Given the description of an element on the screen output the (x, y) to click on. 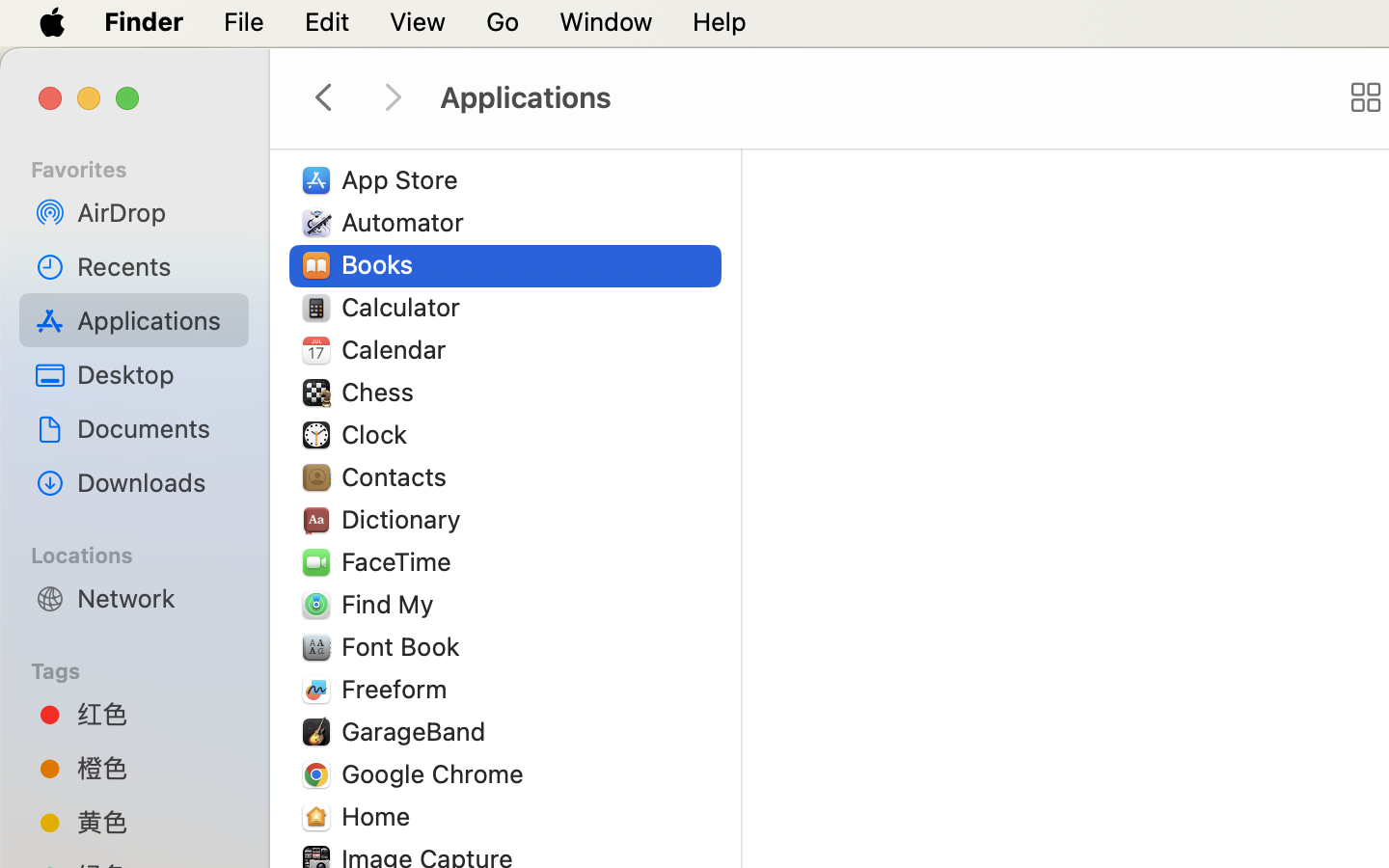
橙色 Element type: AXStaticText (155, 767)
Calendar Element type: AXTextField (398, 348)
Documents Element type: AXStaticText (155, 427)
Desktop Element type: AXStaticText (155, 373)
Font Book Element type: AXTextField (404, 645)
